Given the description of an element on the screen output the (x, y) to click on. 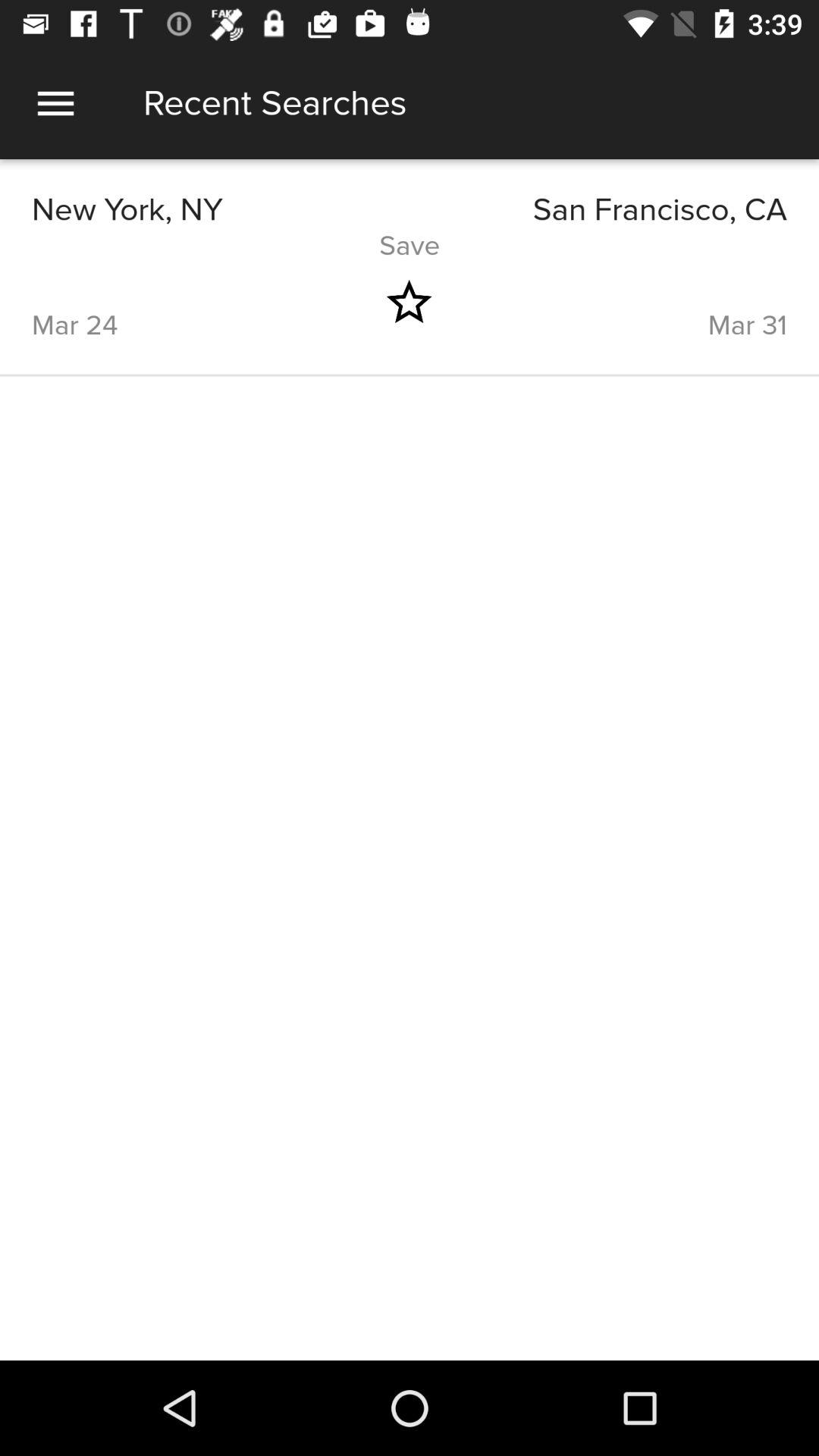
menu (55, 103)
